Given the description of an element on the screen output the (x, y) to click on. 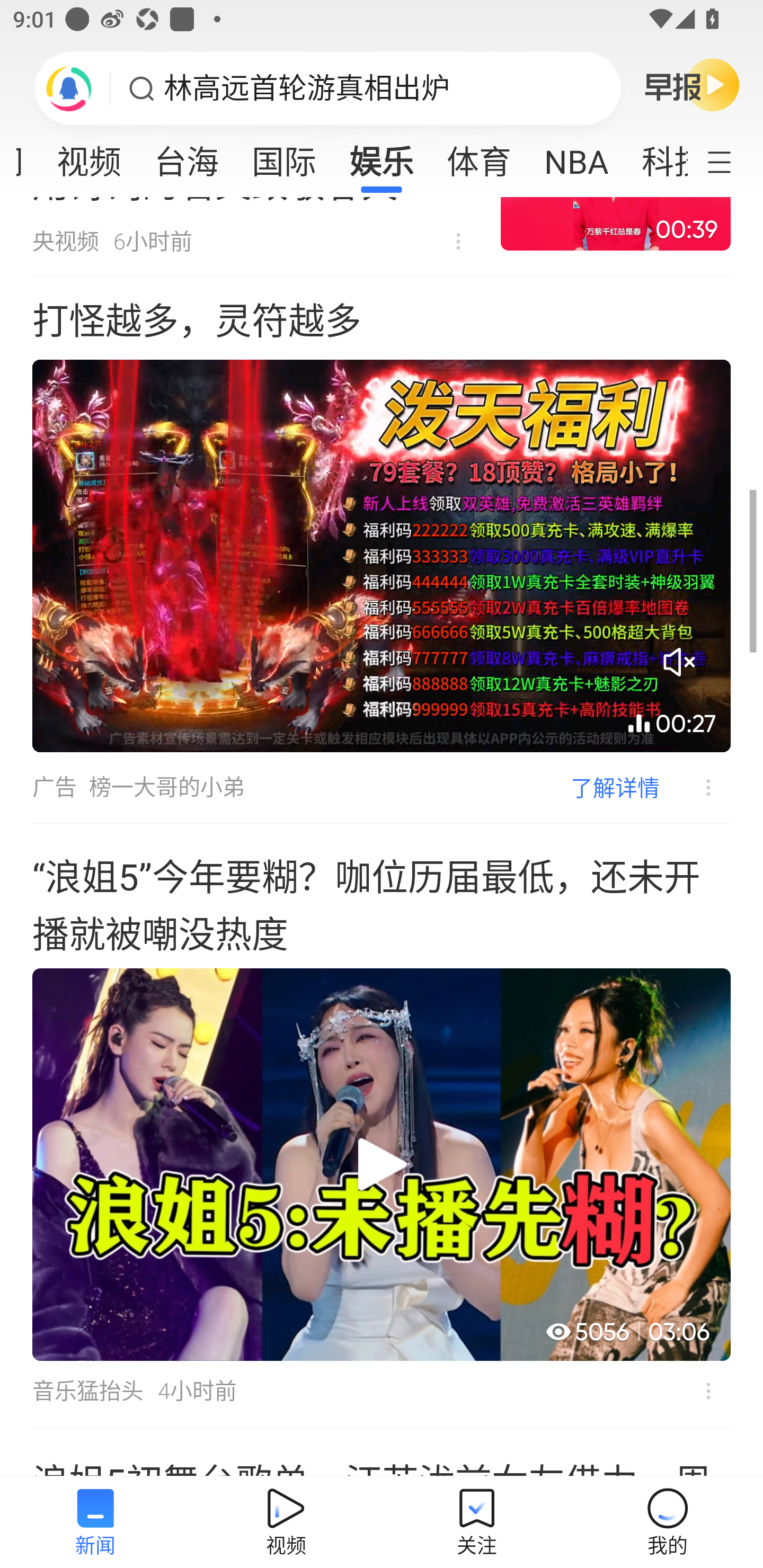
早晚报 (691, 84)
刷新 (68, 88)
林高远首轮游真相出炉 (307, 88)
视频 (89, 155)
台海 (186, 155)
国际 (283, 155)
娱乐 (381, 155)
体育 (478, 155)
NBA (575, 155)
 定制频道 (731, 160)
中国诗词大会 | 跟龙洋一起用诗词的名义致敬春天 央视频 6小时前  不感兴趣 00:39 (381, 236)
 不感兴趣 (458, 241)
打怪越多，灵符越多 00:27 音量开关 广告 榜一大哥的小弟 了解详情  不感兴趣 (381, 549)
00:27 音量开关 (381, 555)
音量开关 (678, 662)
 不感兴趣 (694, 787)
了解详情 (614, 787)
广告 (54, 786)
榜一大哥的小弟 (166, 786)
 不感兴趣 (707, 1390)
